Given the description of an element on the screen output the (x, y) to click on. 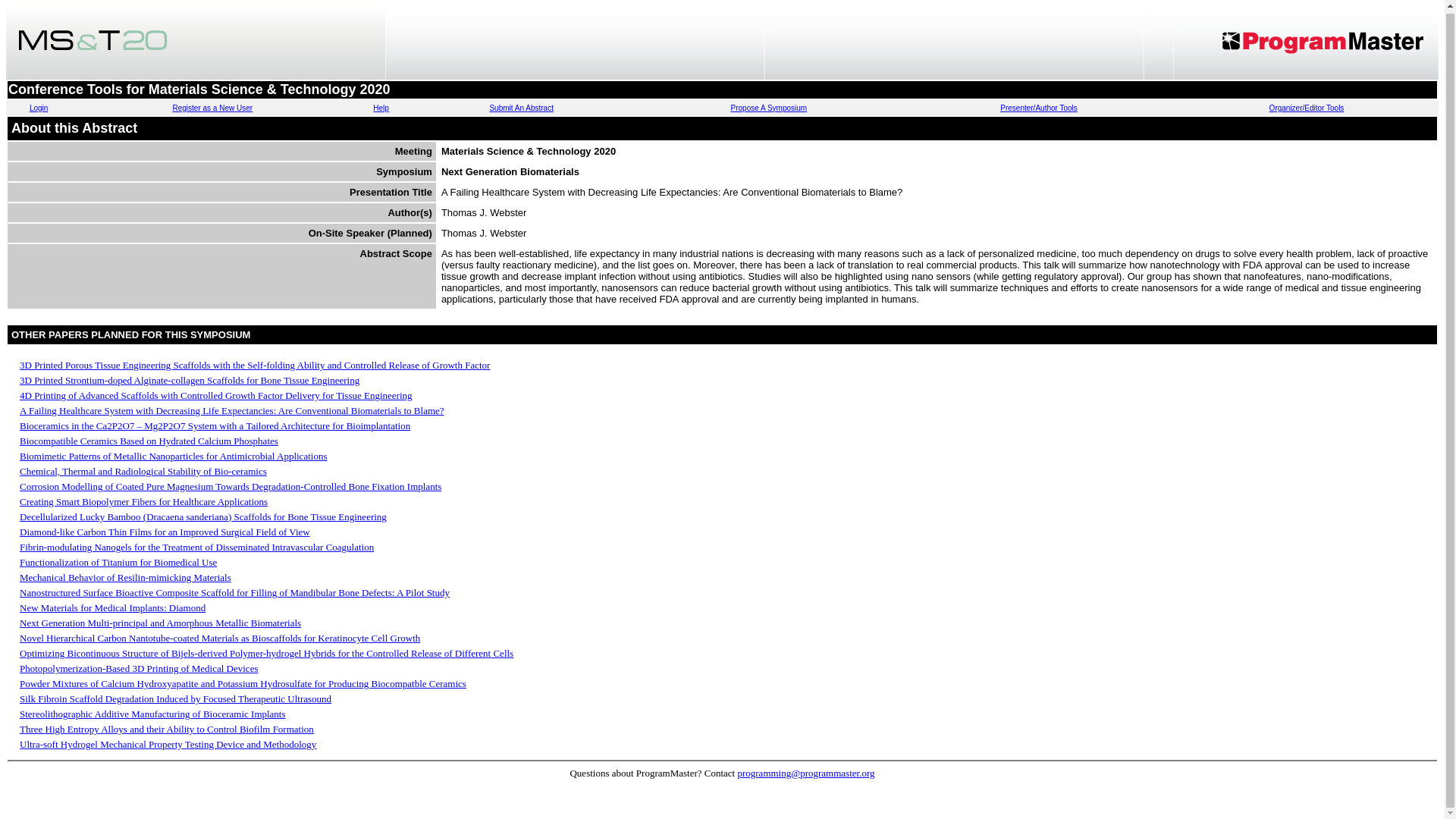
New Materials for Medical Implants: Diamond (112, 607)
Submit An Abstract (521, 108)
Photopolymerization-Based 3D Printing of Medical Devices (138, 668)
Biocompatible Ceramics Based on Hydrated Calcium Phosphates (149, 440)
